Given the description of an element on the screen output the (x, y) to click on. 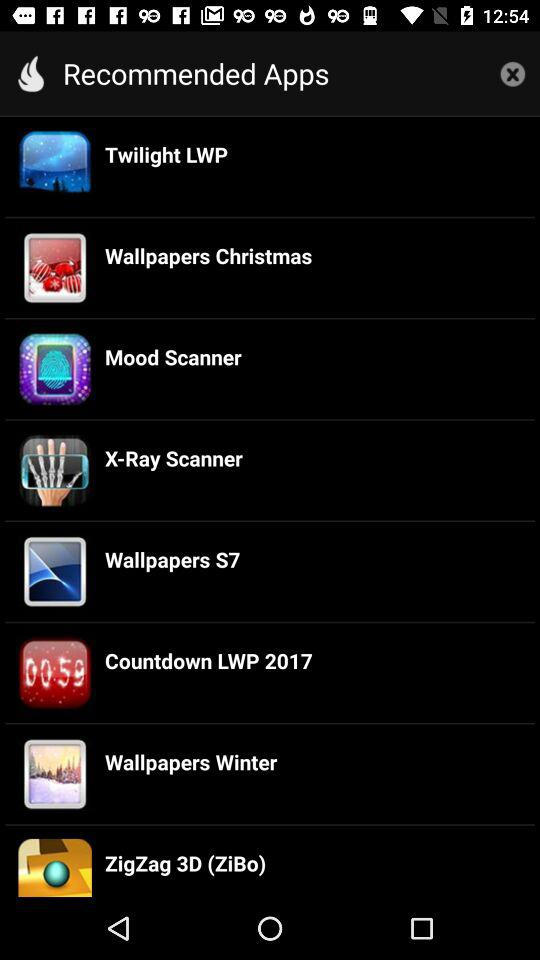
select the icon left to xray scanner (54, 469)
select the icon left to countdown lwp 2017 (54, 673)
select the second image above the notification bar (54, 774)
